Given the description of an element on the screen output the (x, y) to click on. 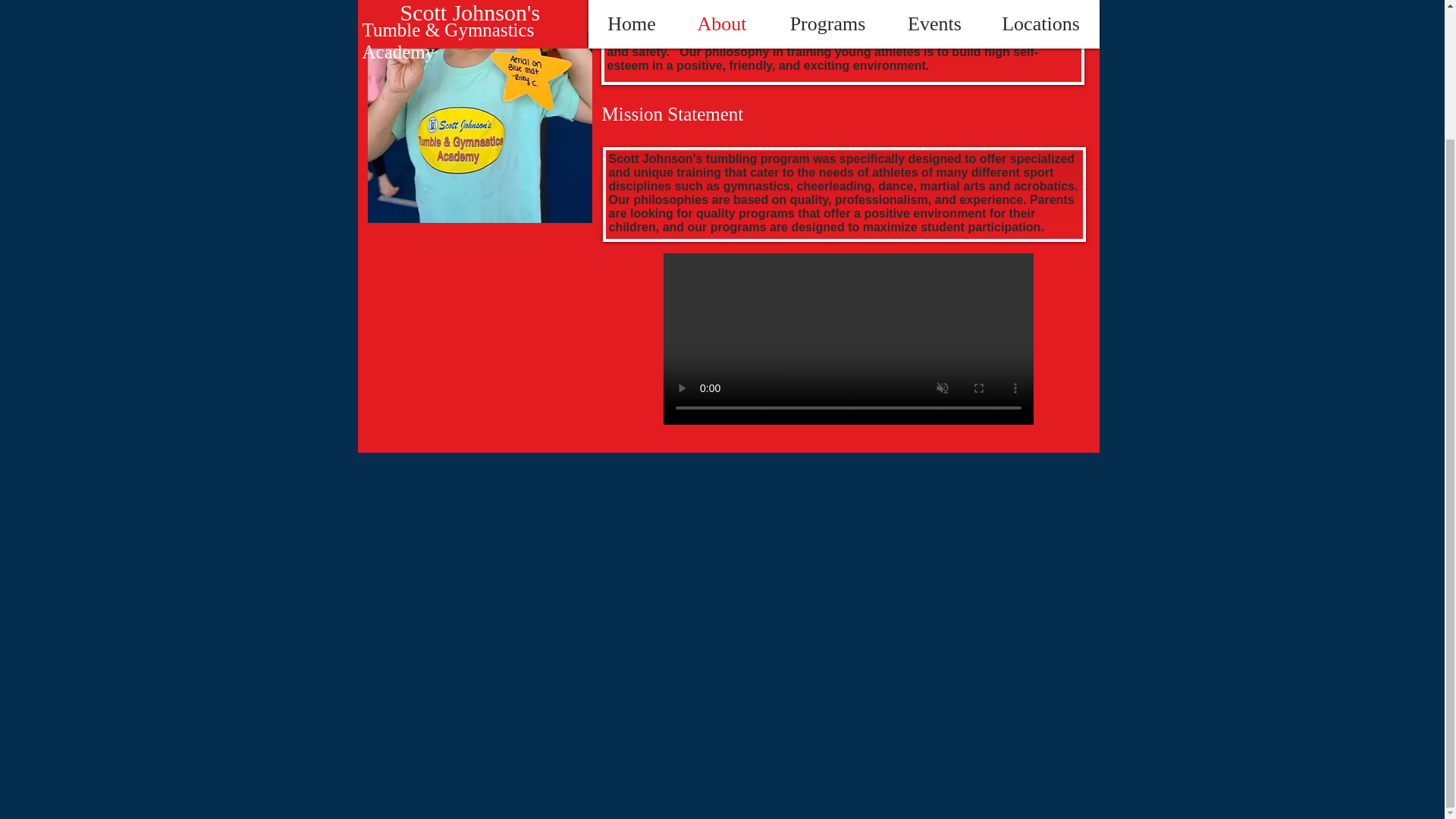
Scott Johnson (648, 10)
